Given the description of an element on the screen output the (x, y) to click on. 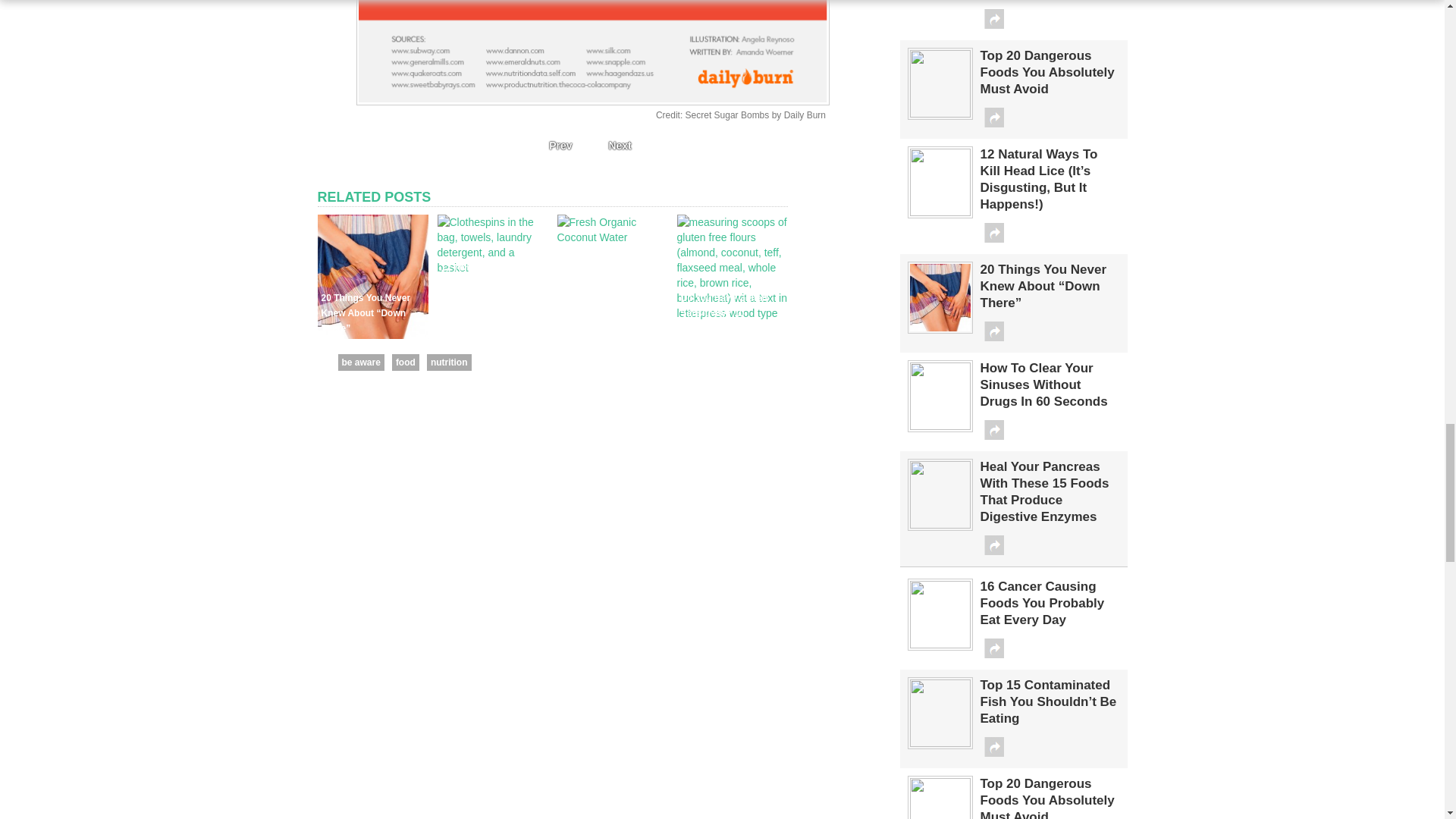
Do You Have Gluten Sensitivity? 10 Common Symptoms (732, 313)
Secret Sugar Bombs by Daily Burn (755, 114)
Next (622, 146)
Prev (555, 146)
